Given the description of an element on the screen output the (x, y) to click on. 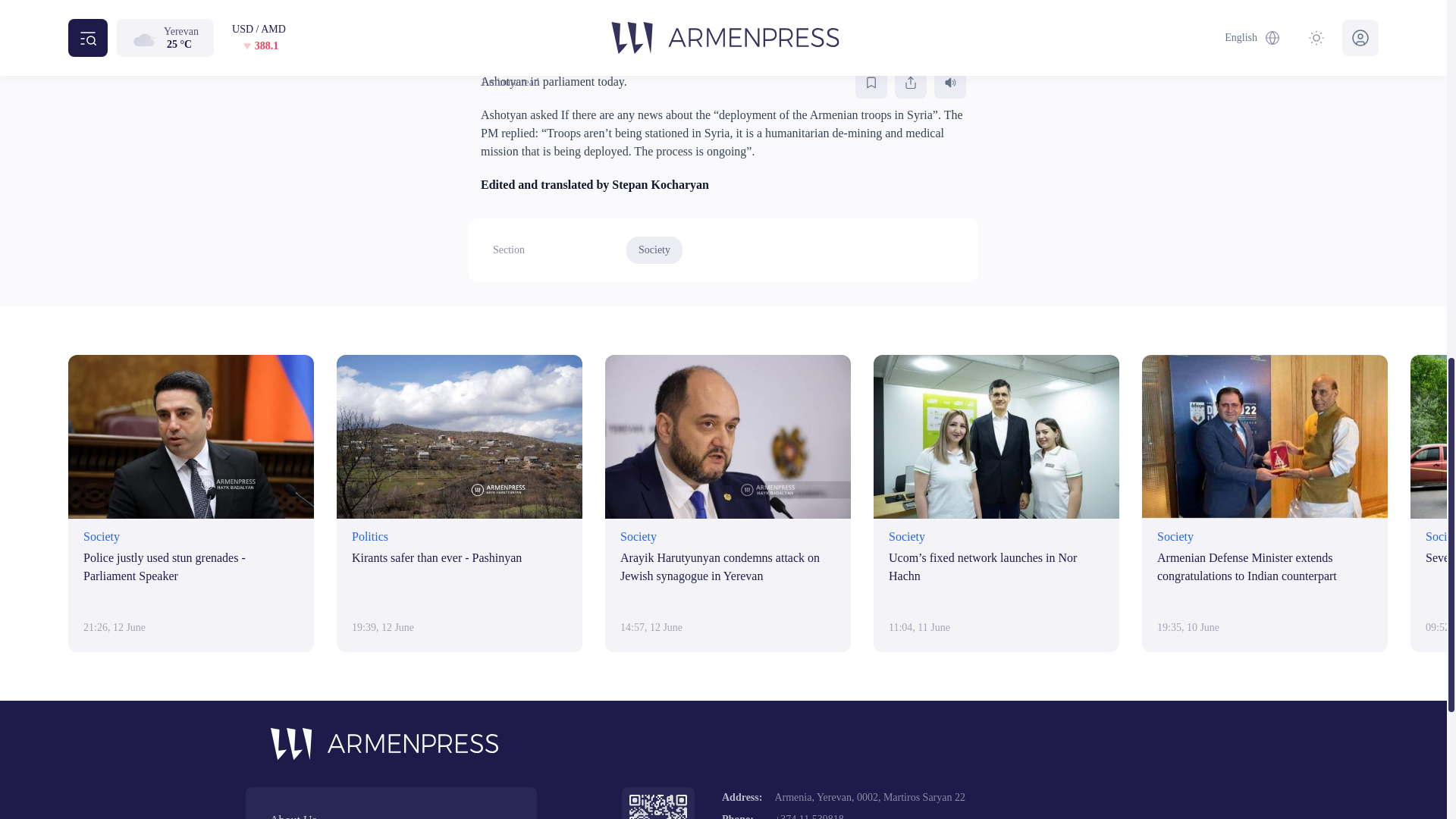
Society (654, 249)
Society (654, 249)
About Us (390, 815)
